Given the description of an element on the screen output the (x, y) to click on. 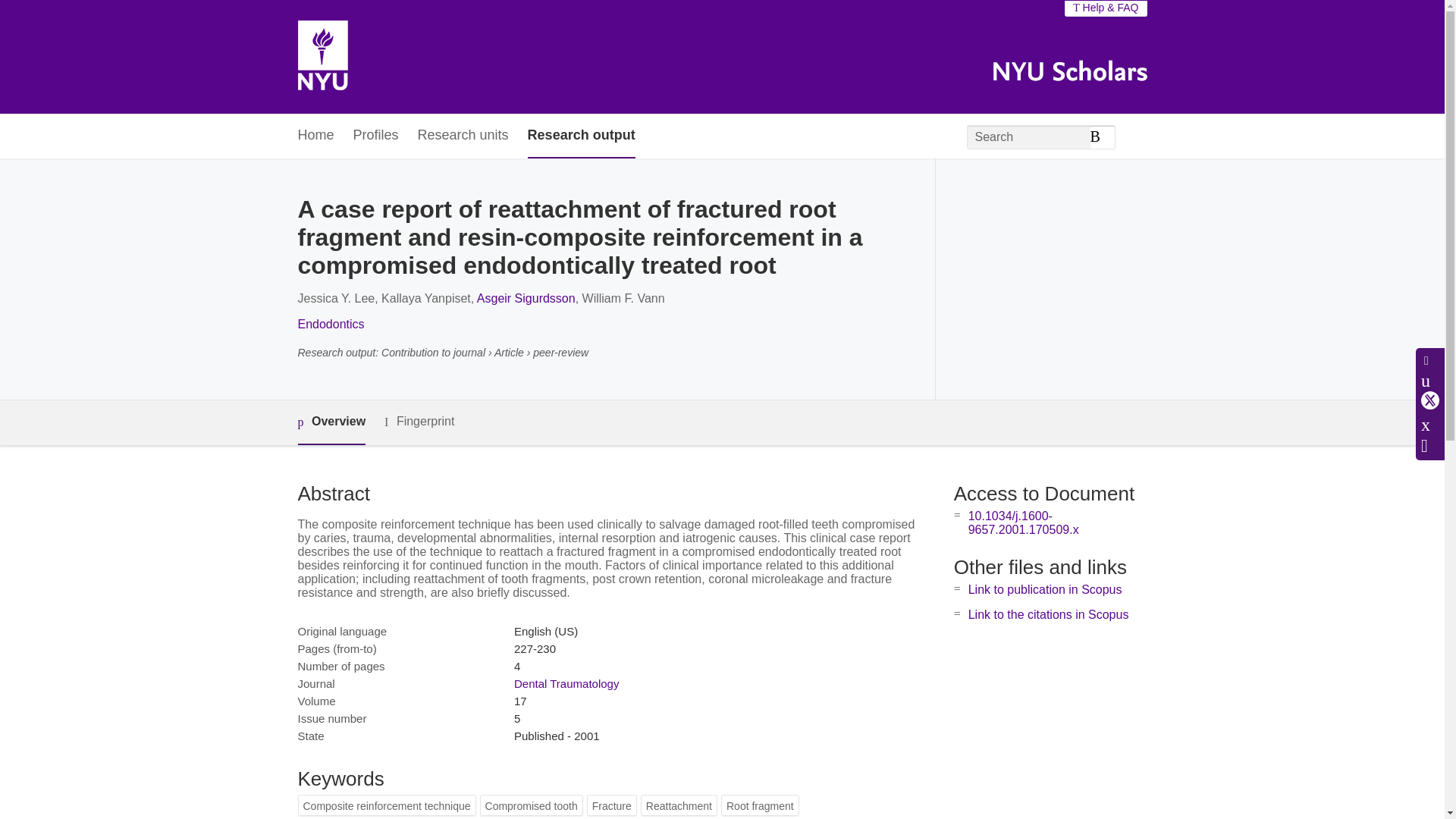
Fingerprint (419, 421)
Research units (462, 135)
Asgeir Sigurdsson (526, 297)
Link to publication in Scopus (1045, 589)
Dental Traumatology (565, 683)
Endodontics (330, 323)
Profiles (375, 135)
Link to the citations in Scopus (1048, 614)
Overview (331, 422)
Research output (580, 135)
